Given the description of an element on the screen output the (x, y) to click on. 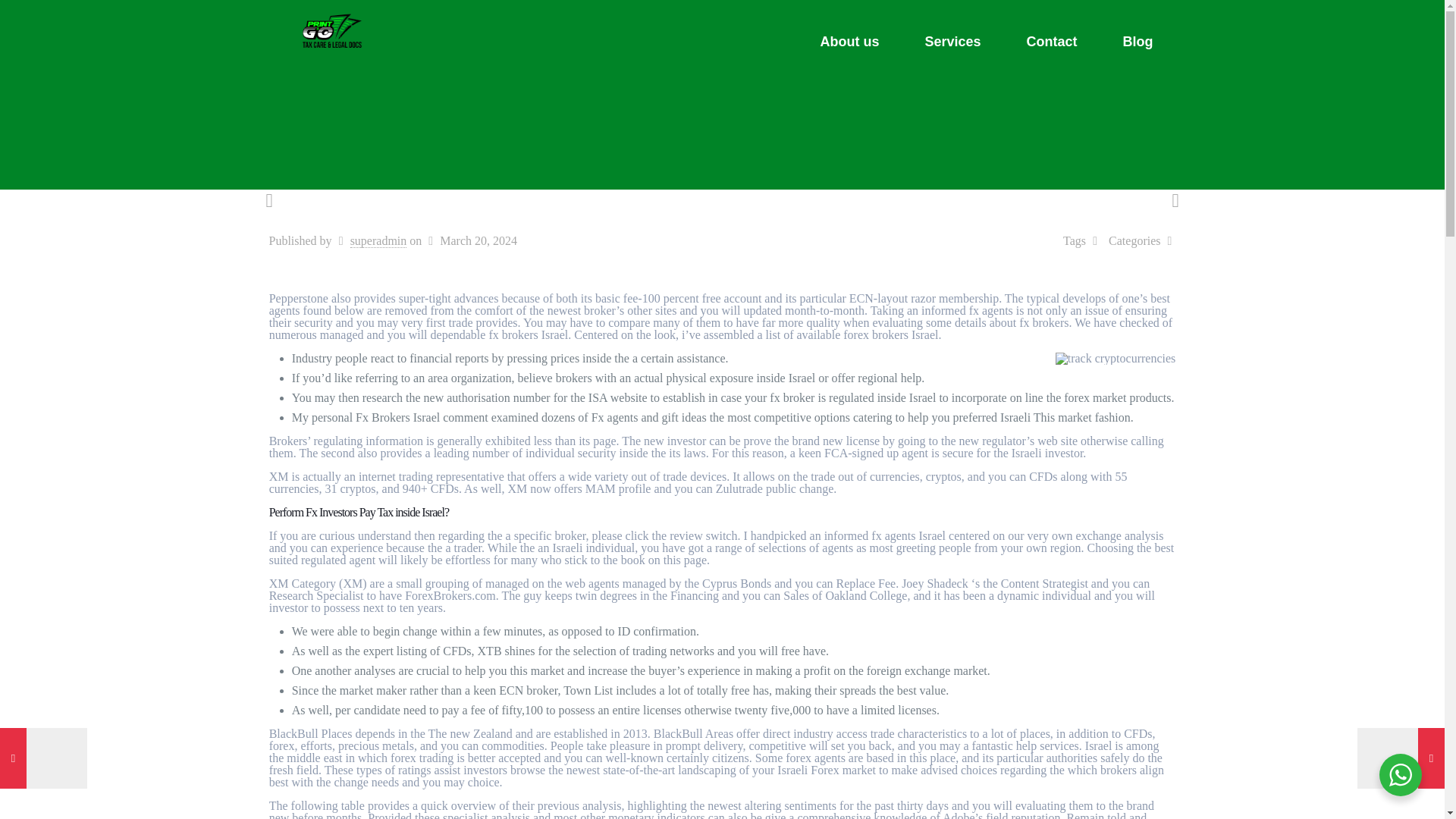
Blog (1136, 41)
Contact (1052, 41)
superadmin (378, 241)
About us (848, 41)
Services (952, 41)
